Given the description of an element on the screen output the (x, y) to click on. 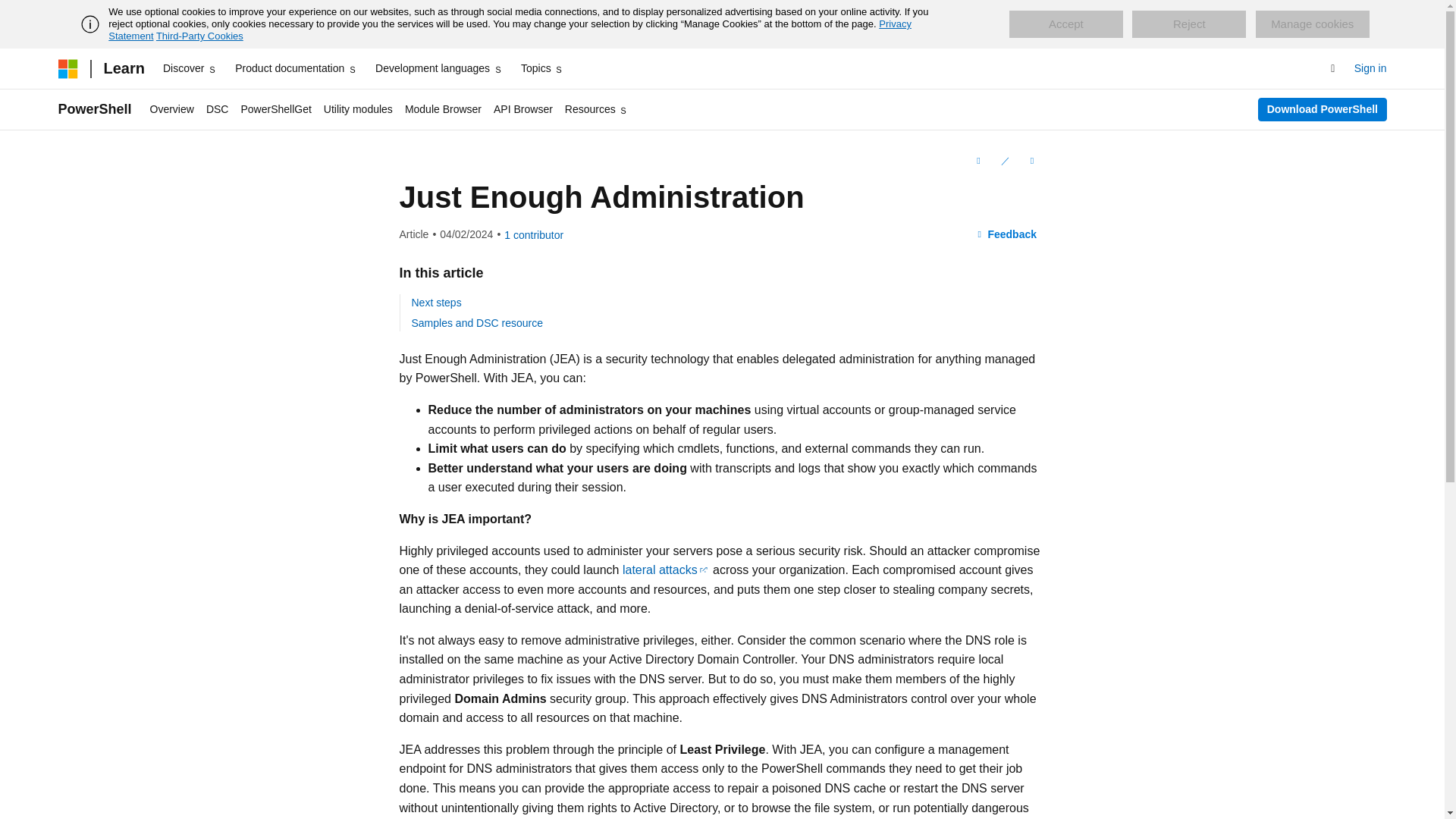
Product documentation (295, 68)
Sign in (1370, 68)
Development languages (438, 68)
Privacy Statement (509, 29)
Manage cookies (1312, 23)
Edit This Document (1004, 160)
Resources (596, 109)
API Browser (523, 109)
Overview (172, 109)
PowerShell (94, 109)
